Given the description of an element on the screen output the (x, y) to click on. 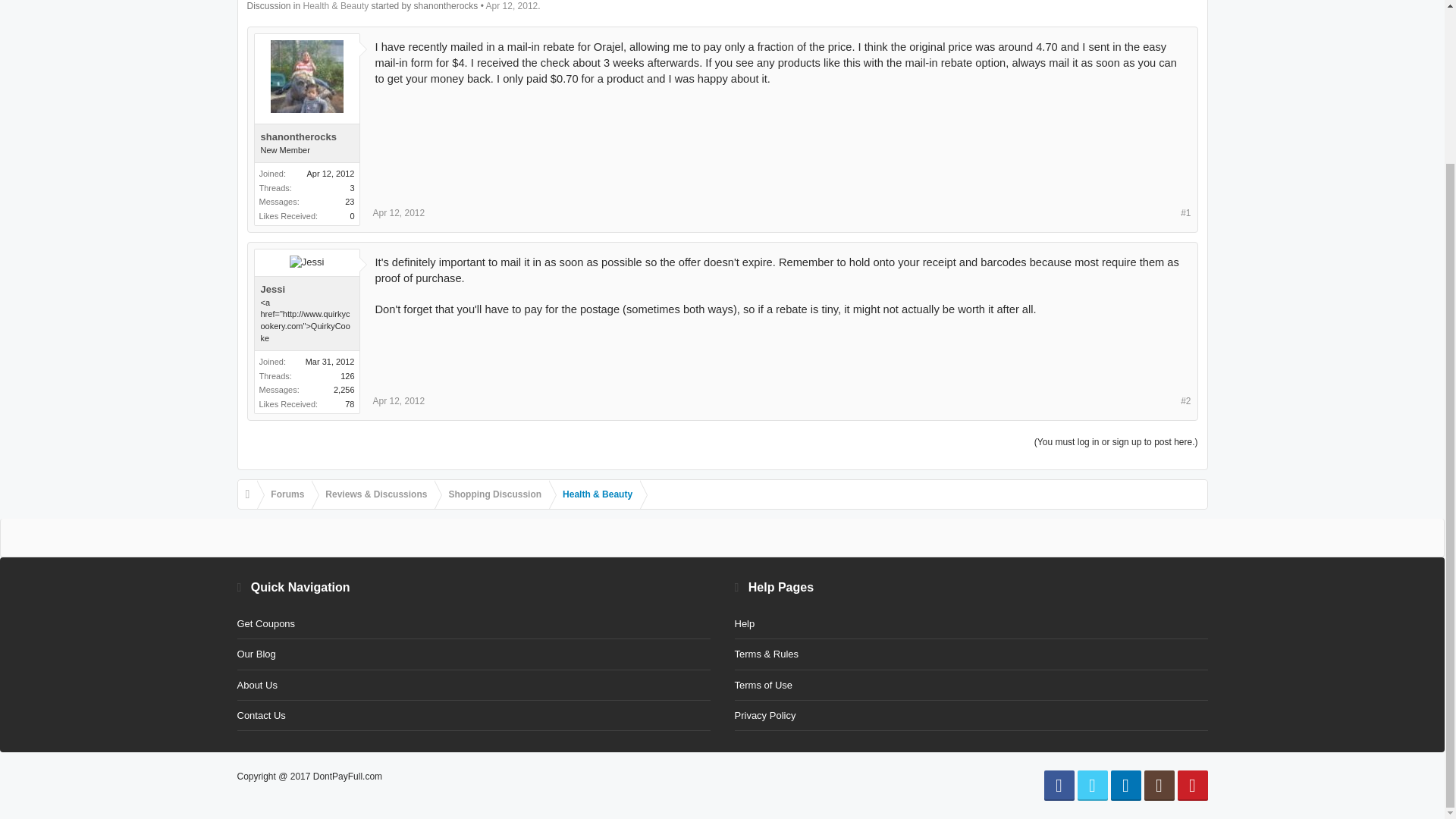
Permalink (398, 400)
Apr 12, 2012 (512, 5)
Permalink (398, 213)
Apr 12, 2012 at 04:13 (512, 5)
Apr 12, 2012 (398, 400)
Apr 12, 2012 (398, 213)
